Given the description of an element on the screen output the (x, y) to click on. 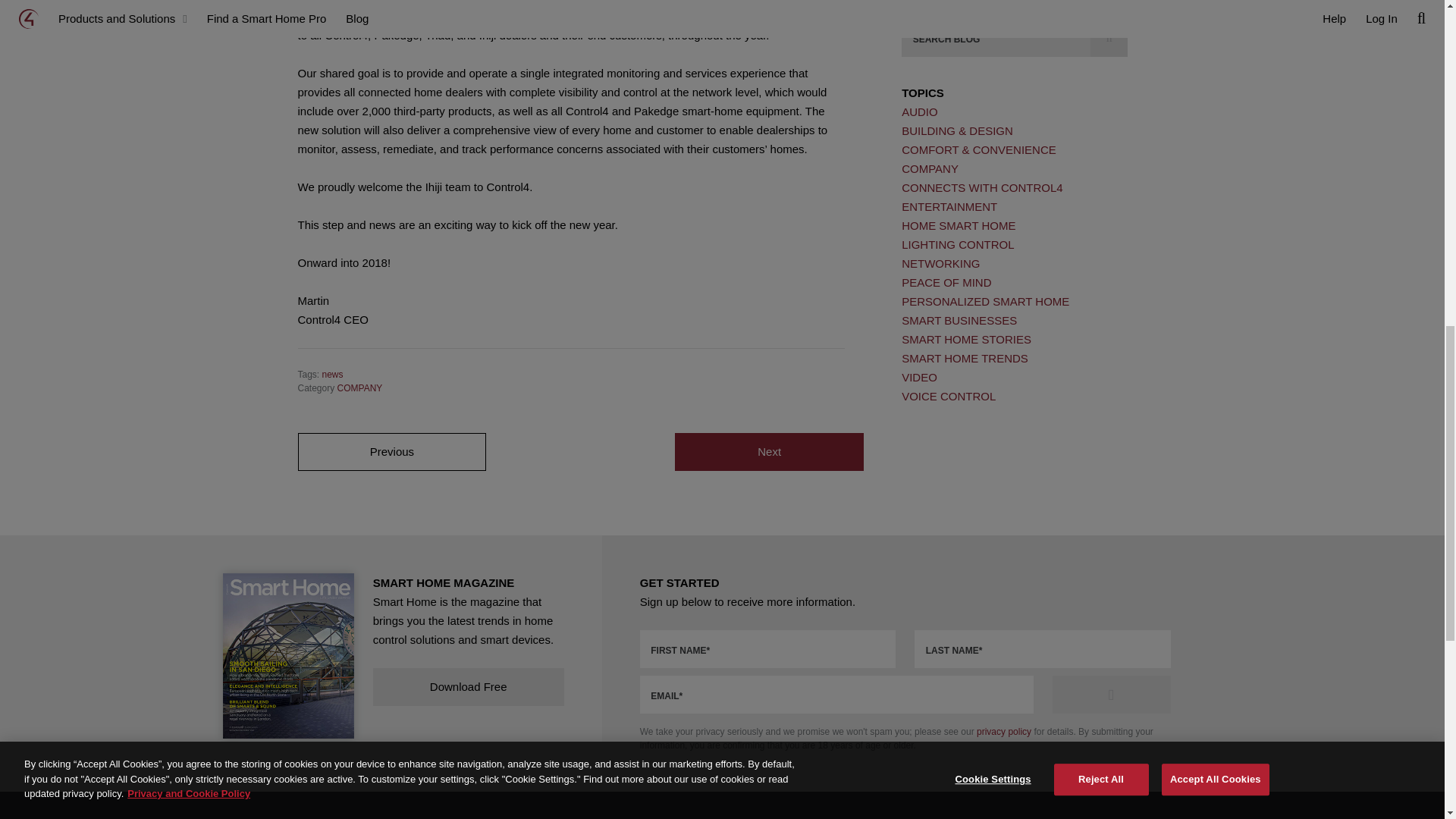
Request More Information (1111, 694)
SMART PEOPLE PERSONALIZE THEIR SMART HOMES (391, 451)
Remote Control World: 5 Must-Have Automated Home Accessories (769, 451)
